Given the description of an element on the screen output the (x, y) to click on. 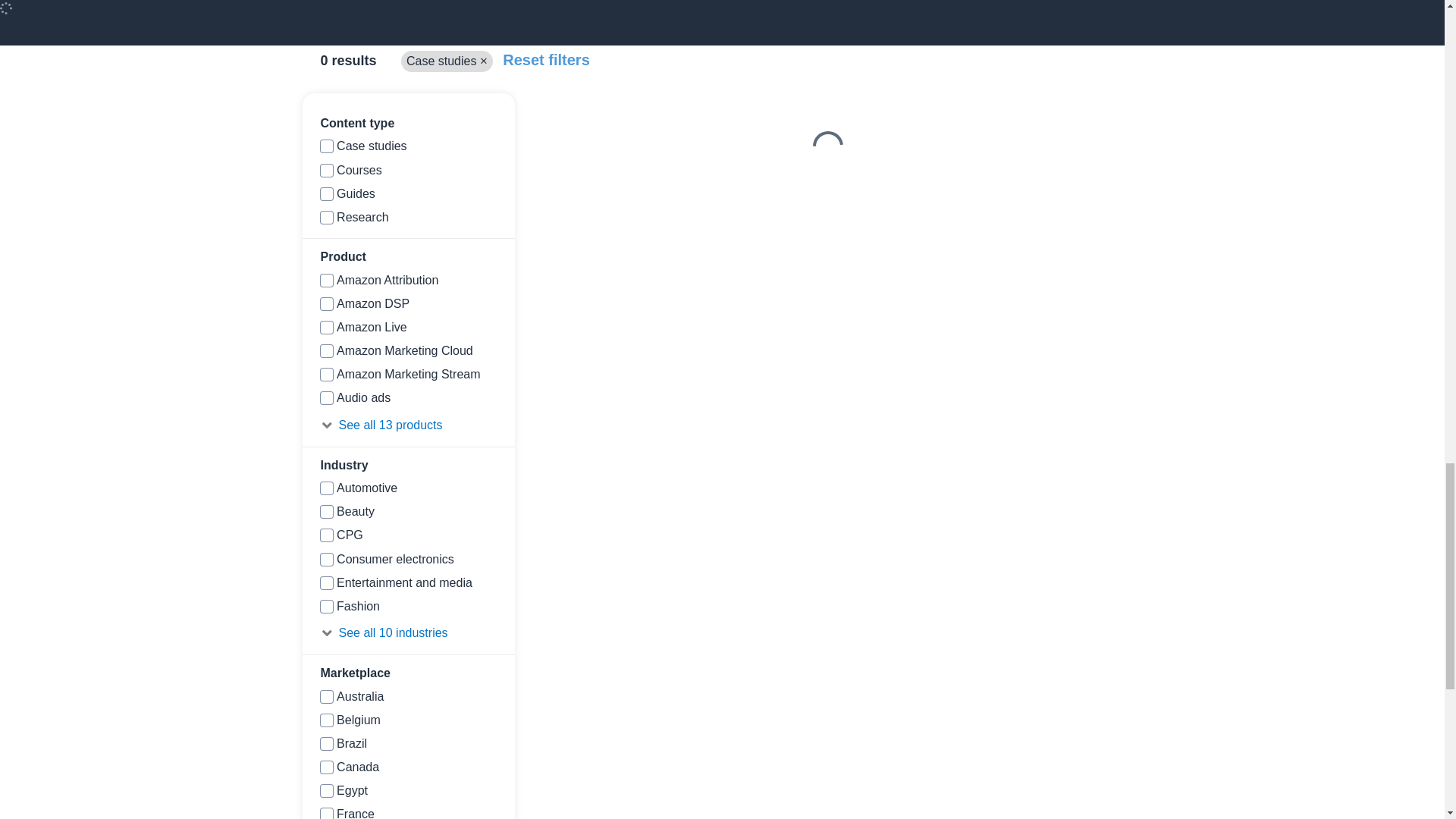
Australia (325, 696)
Beauty (325, 511)
See all 10 industries (408, 633)
Reset filters (546, 59)
Courses (325, 170)
Entertainment and media (325, 582)
Amazon Marketing Stream (325, 374)
Research (325, 217)
See all 13 products (408, 425)
CPG (325, 535)
Amazon Marketing Cloud (325, 350)
Amazon Live (325, 327)
Canada (325, 767)
Consumer electronics (325, 559)
Automotive (325, 488)
